Given the description of an element on the screen output the (x, y) to click on. 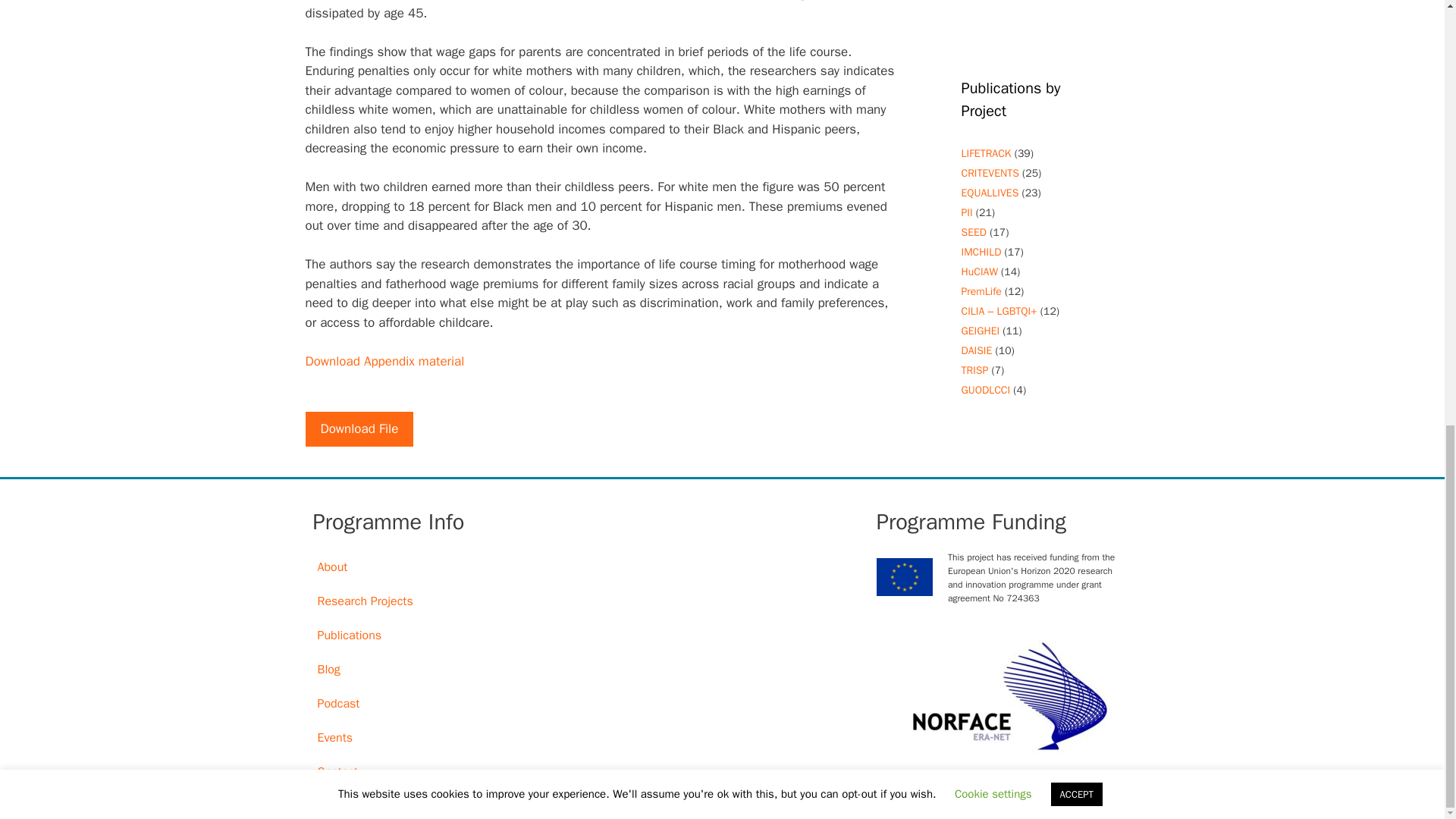
Download File (358, 428)
Download Appendix material (384, 360)
Life-Course Dynamics of Educational Tracking (985, 153)
Trends in Inequality: Sources and Policy (974, 369)
norface-logo-large-with-title (999, 693)
